Given the description of an element on the screen output the (x, y) to click on. 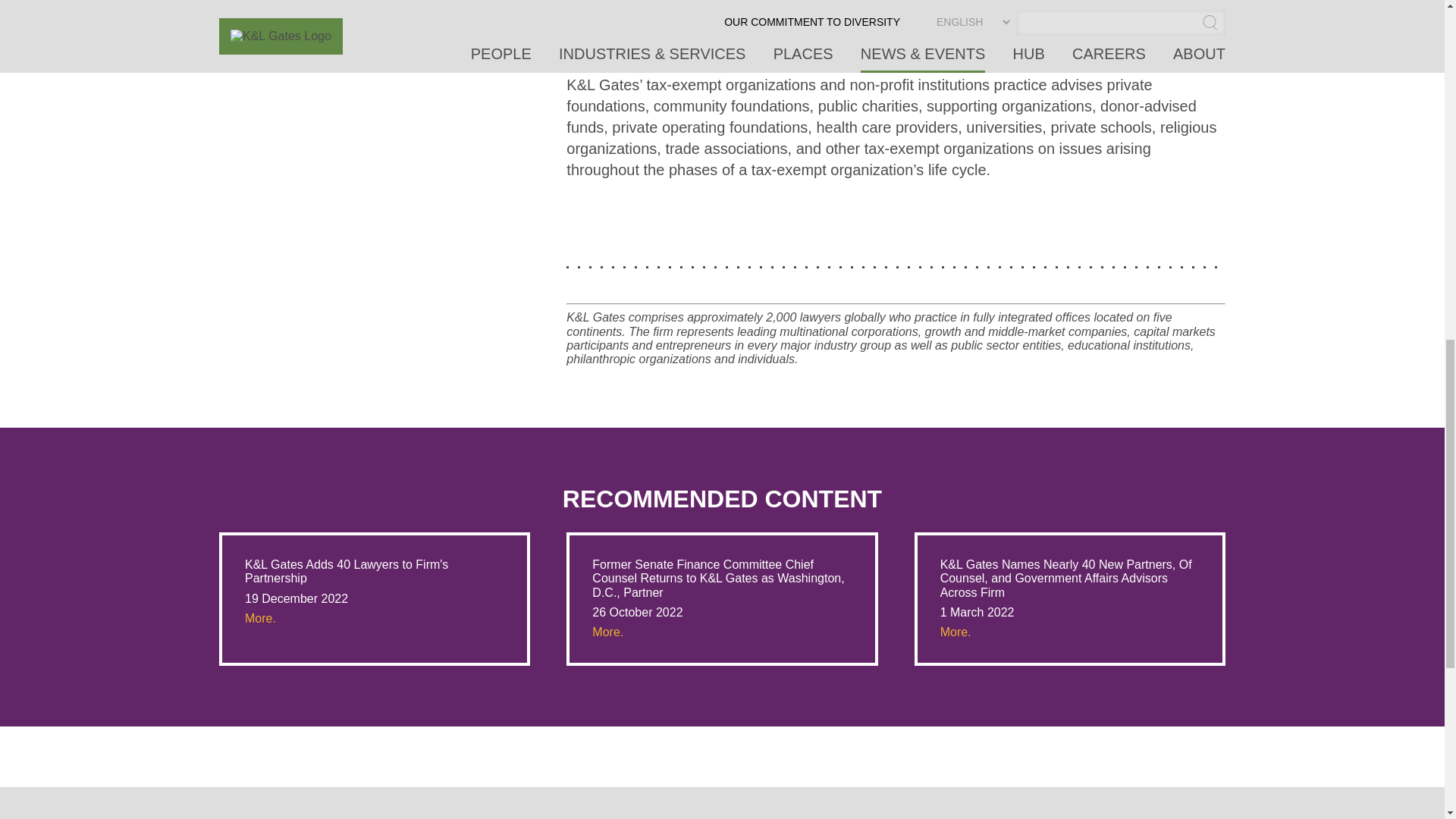
More. (607, 631)
More. (260, 617)
More. (955, 631)
